Given the description of an element on the screen output the (x, y) to click on. 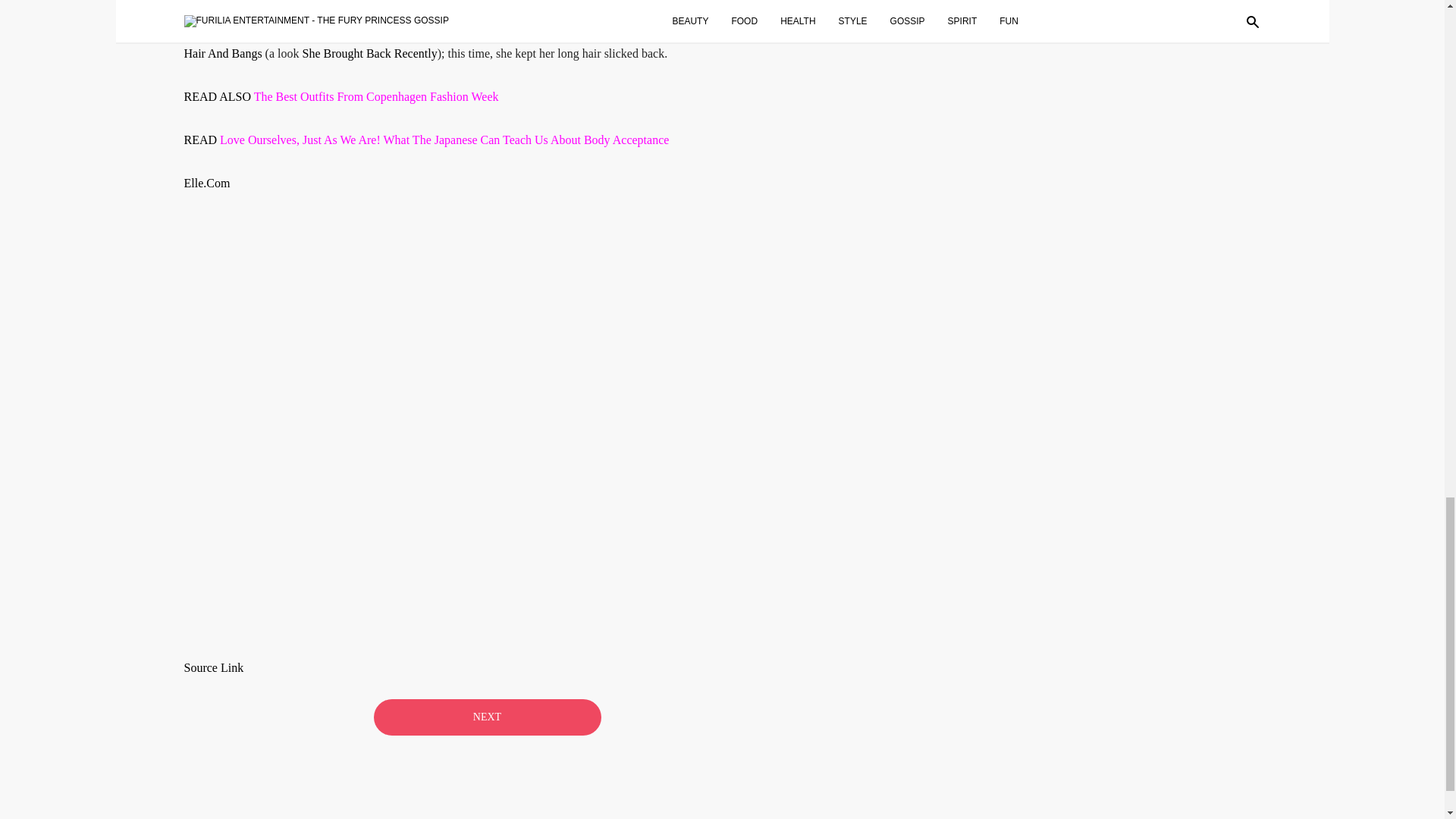
NEXT (485, 717)
READ  (201, 139)
Elle.Com (206, 182)
She Brought Back Recently (368, 52)
Source Link (213, 667)
Long Hair And Bangs (478, 40)
READ ALSO  (218, 96)
